Given the description of an element on the screen output the (x, y) to click on. 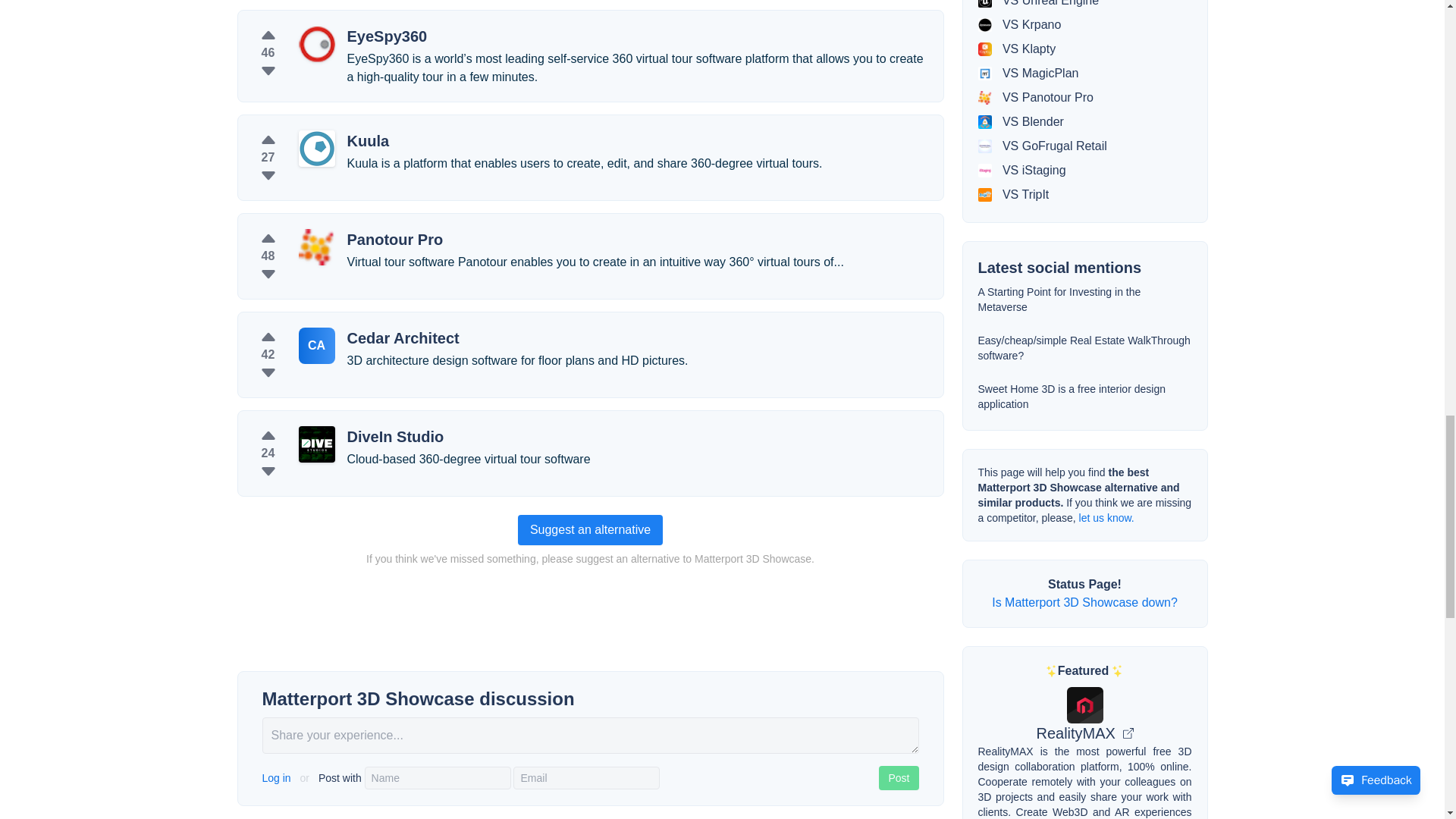
Post (898, 777)
